Given the description of an element on the screen output the (x, y) to click on. 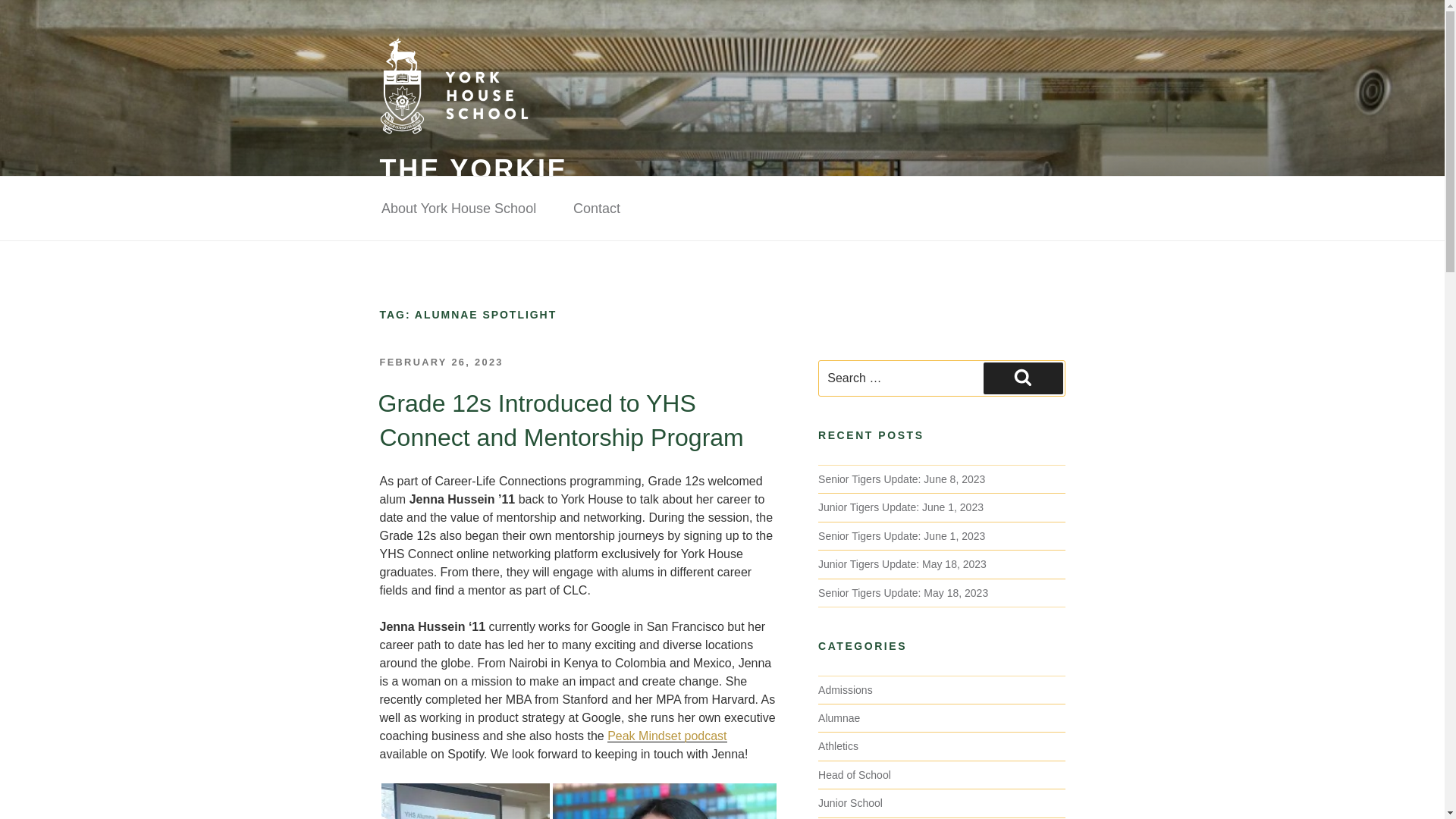
Alumnae (839, 717)
Admissions (845, 689)
About York House School (458, 208)
Junior Tigers Update: May 18, 2023 (902, 563)
FEBRUARY 26, 2023 (440, 361)
Junior Tigers Update: June 1, 2023 (901, 507)
Contact (596, 208)
Grade 12s Introduced to YHS Connect and Mentorship Program (559, 420)
Jenna (663, 800)
Senior Tigers Update: June 1, 2023 (901, 535)
Head of School (854, 775)
Athletics (838, 746)
Senior Tigers Update: June 8, 2023 (901, 479)
Junior School (850, 802)
THE YORKIE (472, 169)
